Given the description of an element on the screen output the (x, y) to click on. 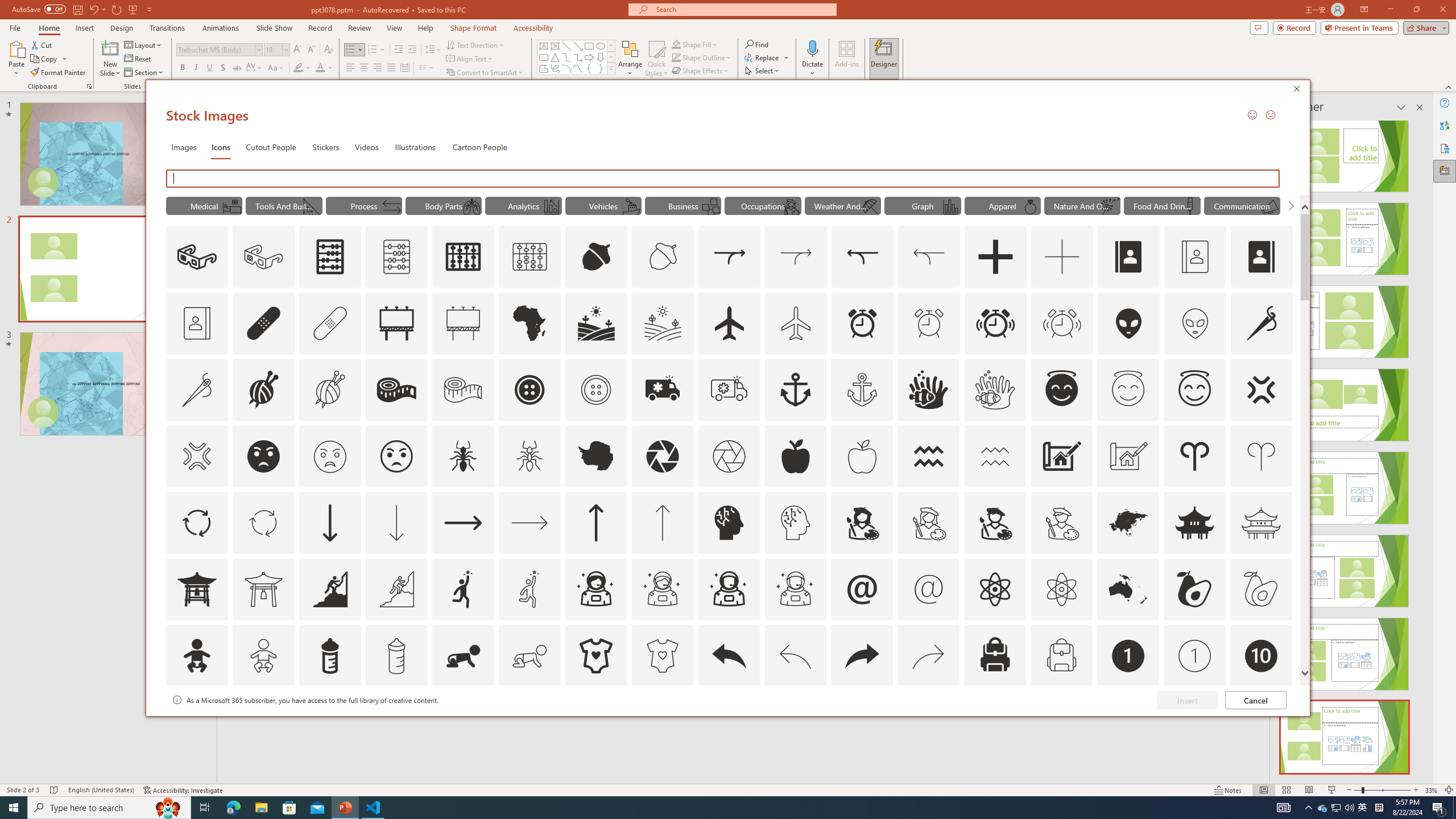
AutomationID: Icons_Backpack_M (1061, 655)
AutomationID: Icons_ArtistMale (995, 522)
AutomationID: Icons_AlterationsTailoring1 (263, 389)
AutomationID: Icons_Dandelion_M (1110, 206)
AutomationID: Icons_Antarctica (595, 455)
Cutout People (271, 146)
